Given the description of an element on the screen output the (x, y) to click on. 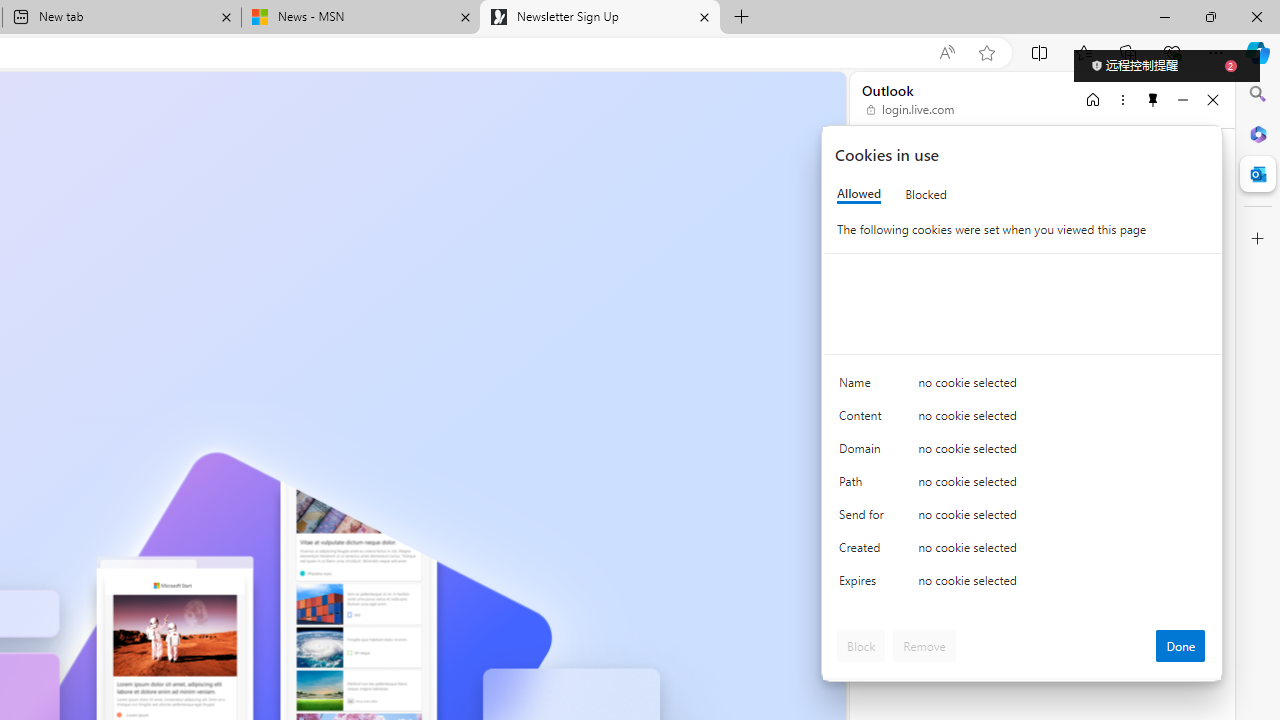
Class: c0153 c0157 (1023, 584)
Created (864, 552)
Name (864, 387)
login.live.com (911, 110)
Path (864, 485)
Expires (864, 585)
Outlook (1258, 174)
Newsletter Sign Up (600, 17)
Done (1179, 645)
